Given the description of an element on the screen output the (x, y) to click on. 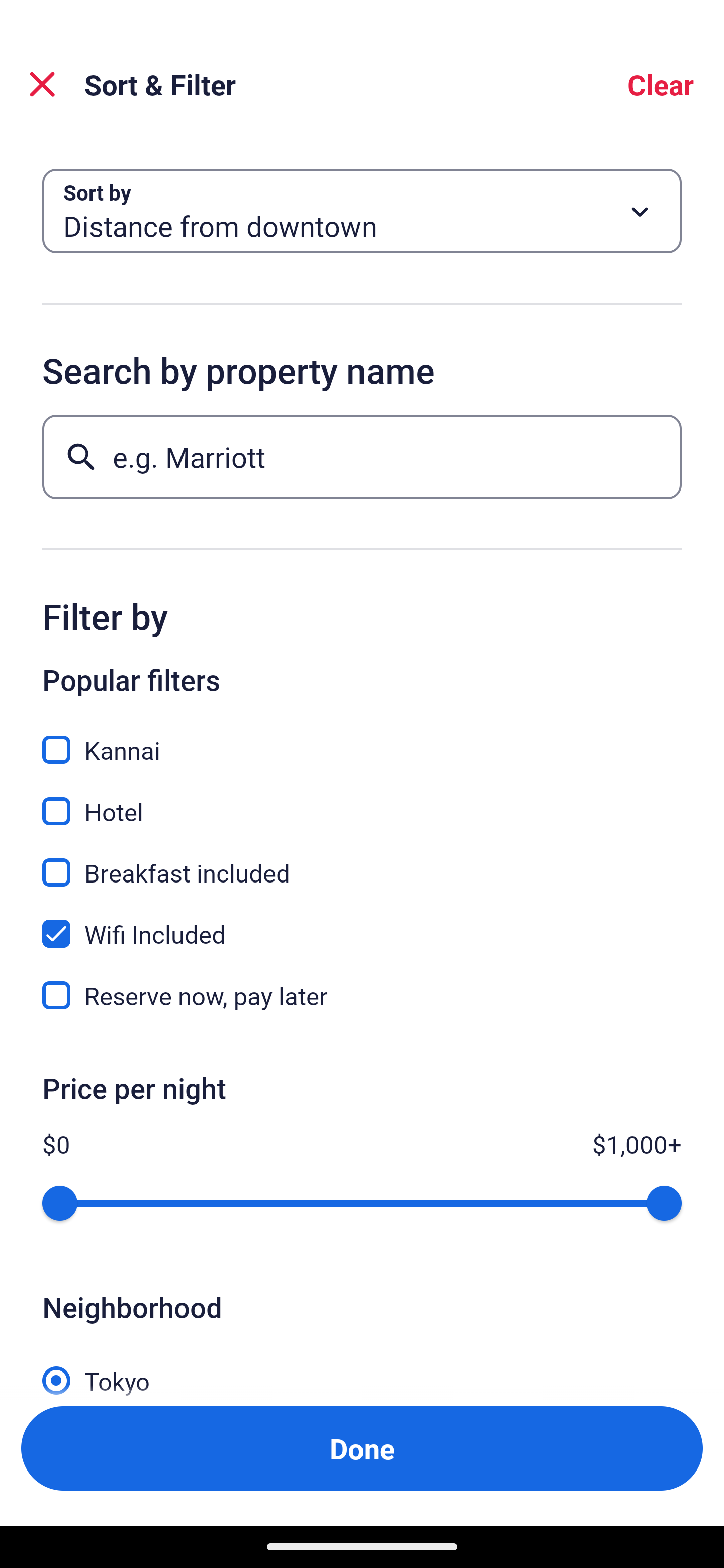
Close Sort and Filter (42, 84)
Clear (660, 84)
Sort by Button Distance from downtown (361, 211)
e.g. Marriott Button (361, 455)
Kannai, Kannai (361, 738)
Hotel, Hotel (361, 800)
Breakfast included, Breakfast included (361, 861)
Wifi Included, Wifi Included (361, 922)
Reserve now, pay later, Reserve now, pay later (361, 995)
Apply and close Sort and Filter Done (361, 1448)
